Given the description of an element on the screen output the (x, y) to click on. 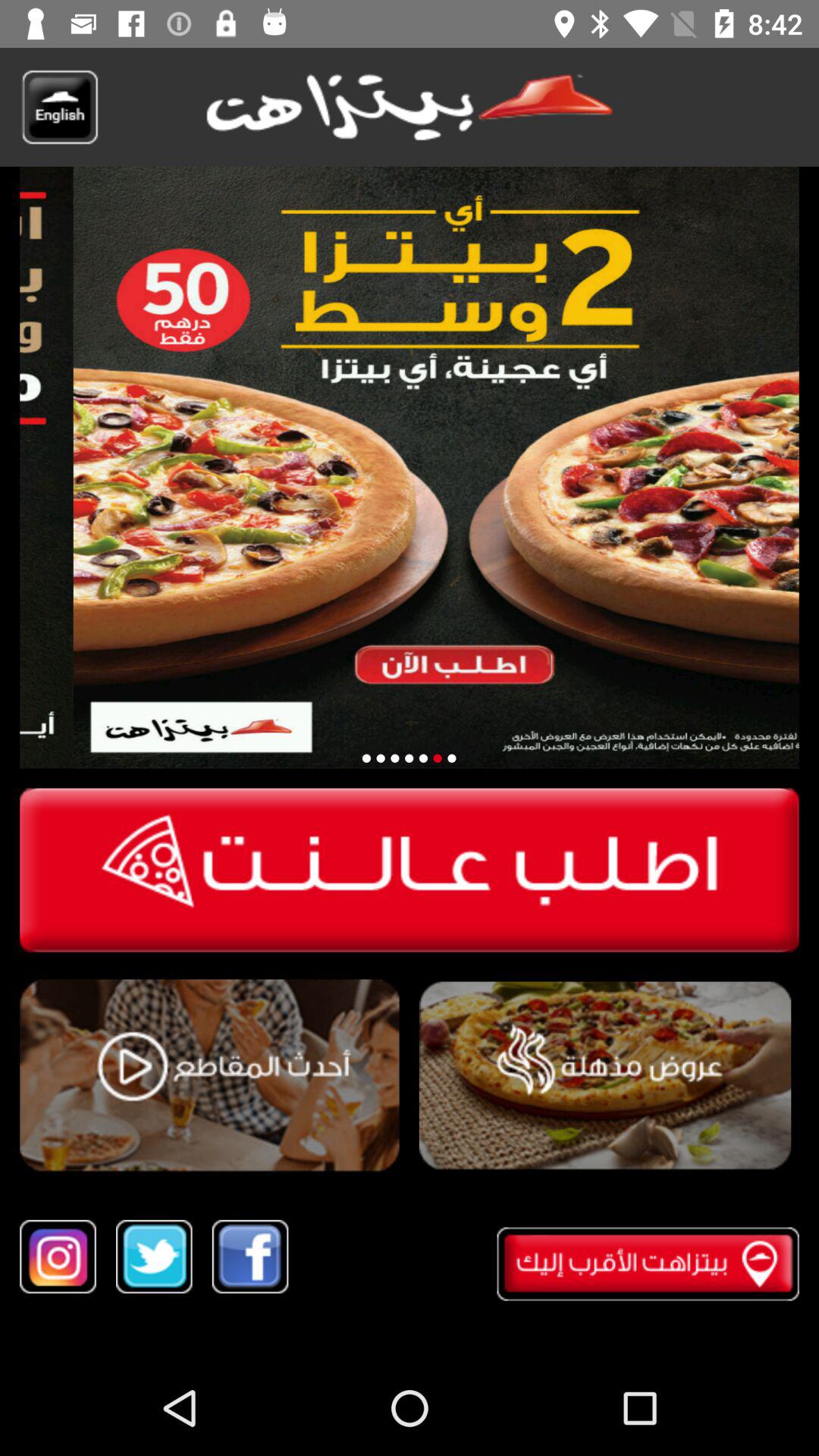
click to exploe alib lo hpaic (605, 1075)
